Given the description of an element on the screen output the (x, y) to click on. 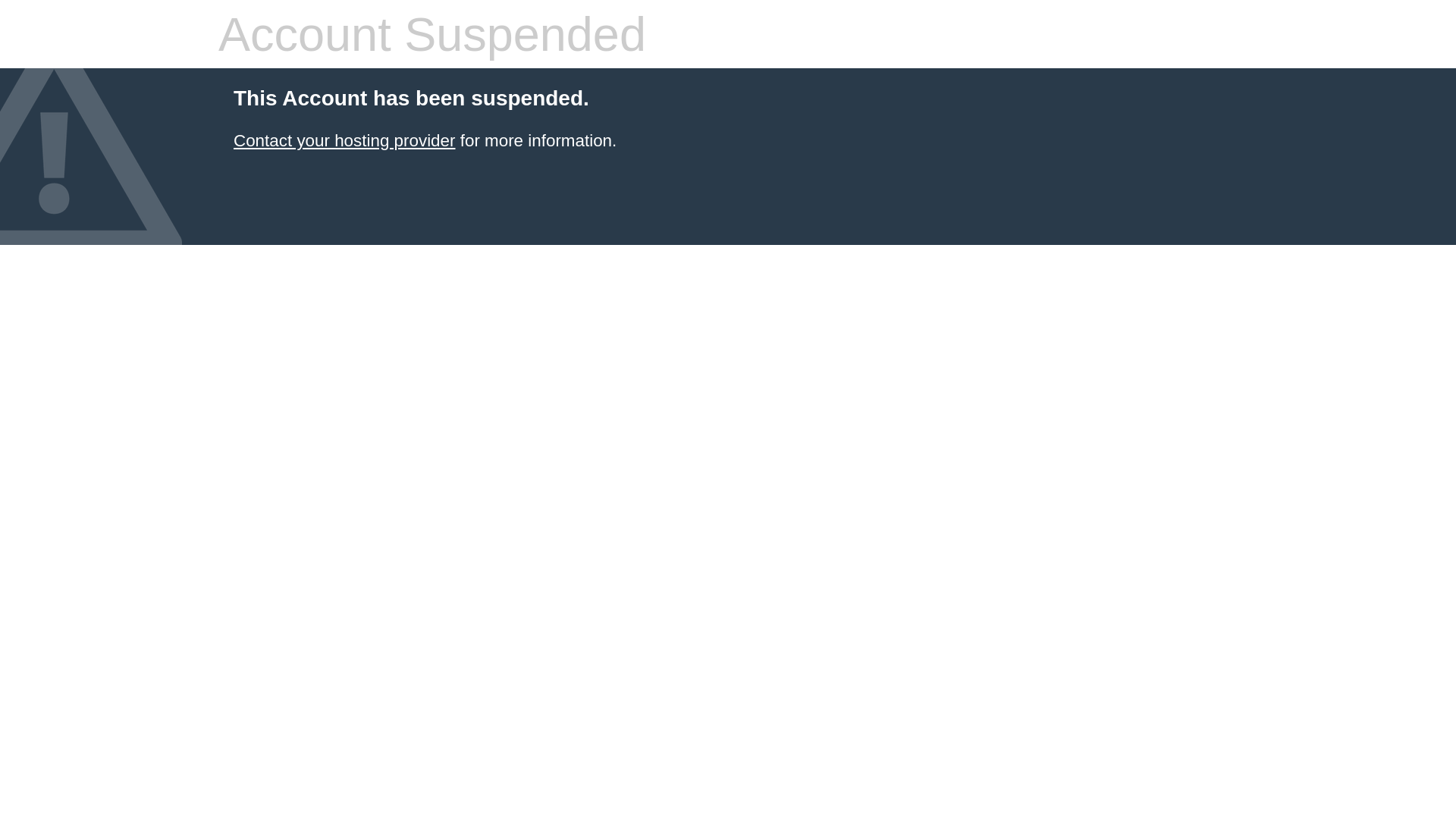
Contact your hosting provider Element type: text (344, 140)
